Given the description of an element on the screen output the (x, y) to click on. 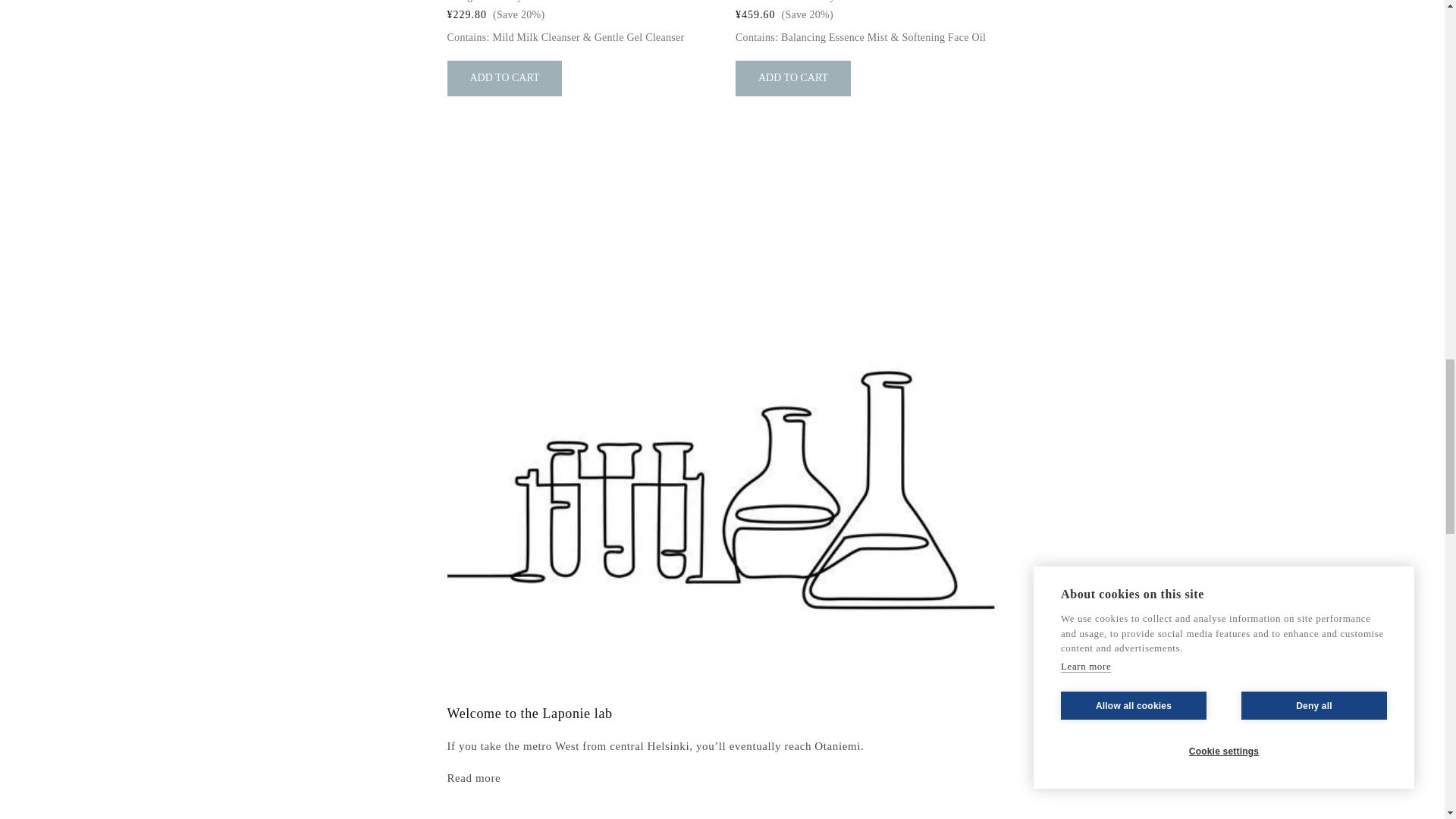
Add to cart (504, 78)
Add to cart (792, 78)
